Given the description of an element on the screen output the (x, y) to click on. 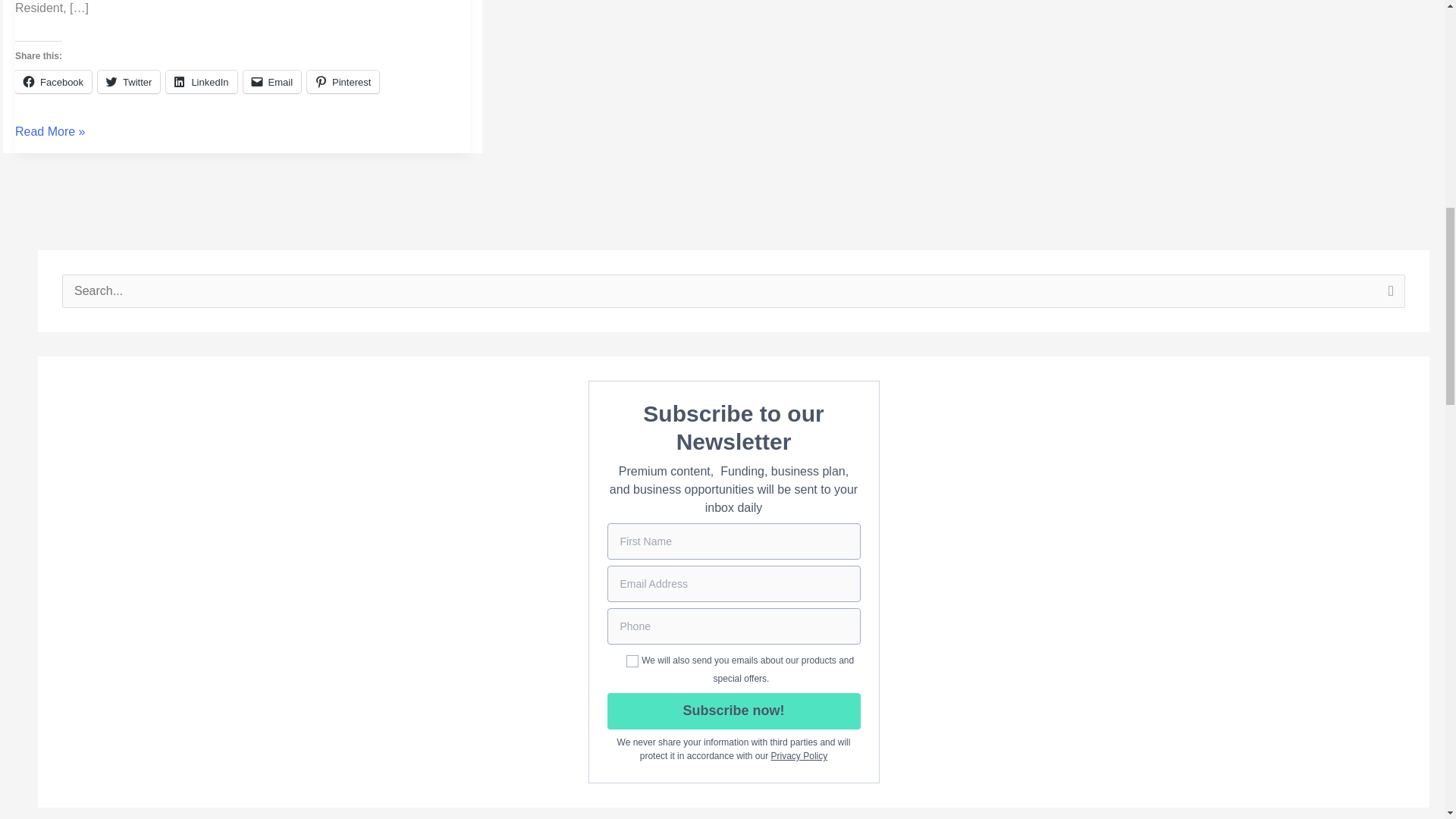
Click to share on Facebook (52, 81)
Twitter (128, 81)
Privacy Policy (799, 756)
Pinterest (342, 81)
LinkedIn (200, 81)
Click to email a link to a friend (272, 81)
Click to share on LinkedIn (200, 81)
Subscribe now! (733, 710)
Click to share on Twitter (128, 81)
Email (272, 81)
